Given the description of an element on the screen output the (x, y) to click on. 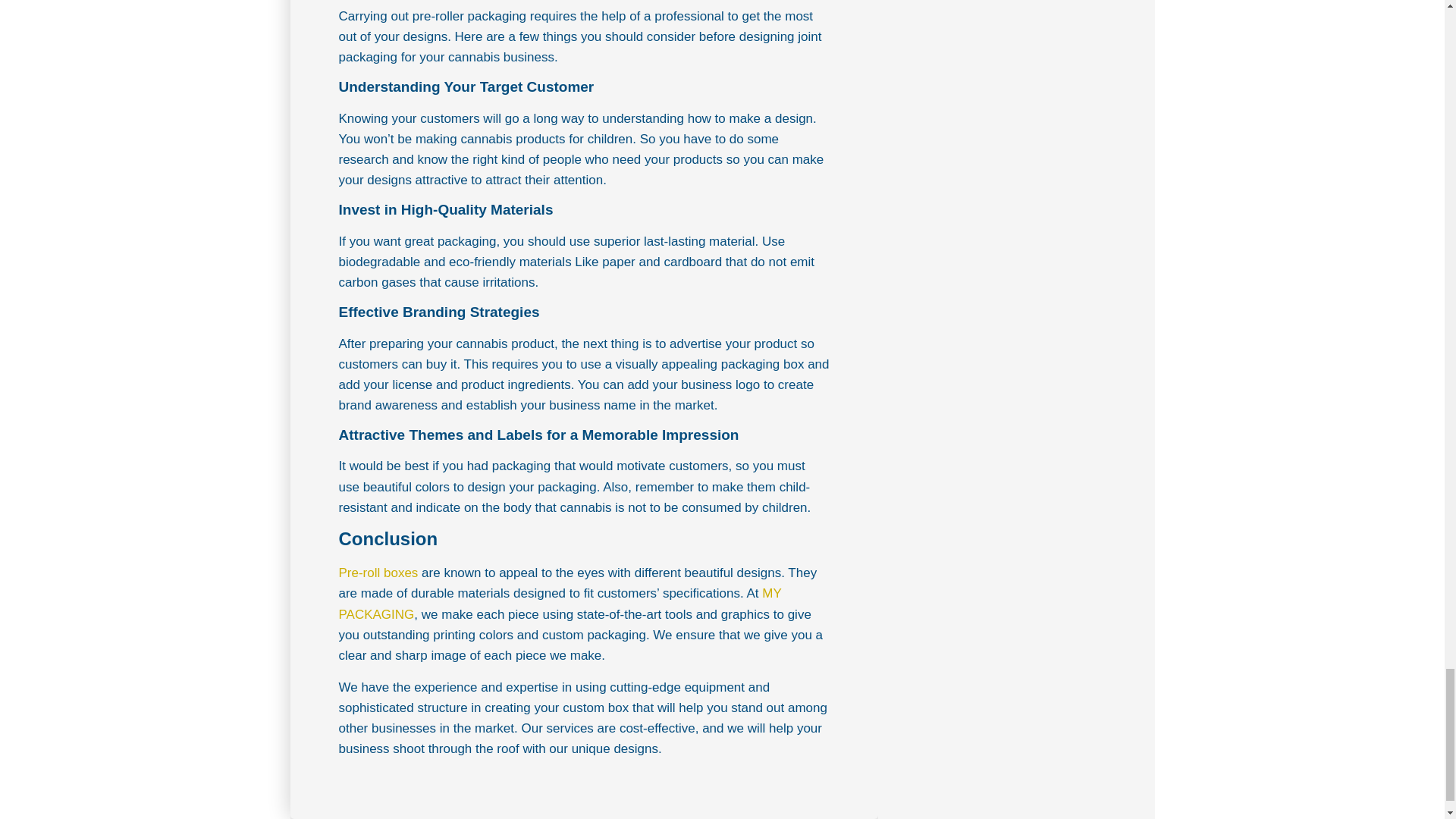
MY PACKAGING (558, 603)
Pre-roll boxes (377, 572)
